Given the description of an element on the screen output the (x, y) to click on. 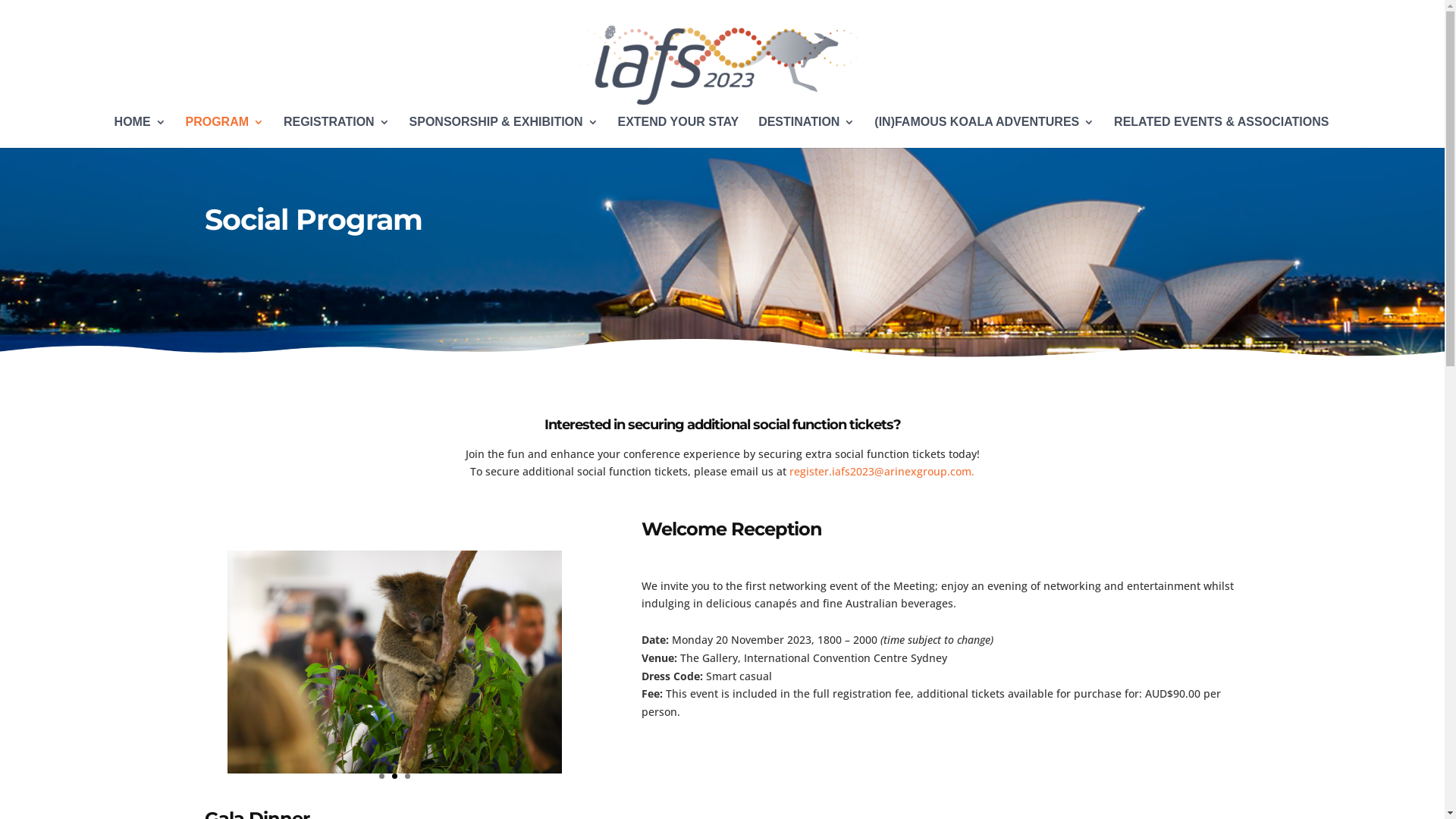
(IN)FAMOUS KOALA ADVENTURES Element type: text (984, 131)
SPONSORSHIP & EXHIBITION Element type: text (503, 131)
EXTEND YOUR STAY Element type: text (677, 131)
HOME Element type: text (140, 131)
3 Element type: text (407, 775)
PROGRAM Element type: text (224, 131)
2 Element type: text (394, 775)
DESTINATION Element type: text (806, 131)
register.iafs2023@arinexgroup.com. Element type: text (881, 471)
RELATED EVENTS & ASSOCIATIONS Element type: text (1220, 131)
REGISTRATION Element type: text (336, 131)
1 Element type: text (381, 775)
